Given the description of an element on the screen output the (x, y) to click on. 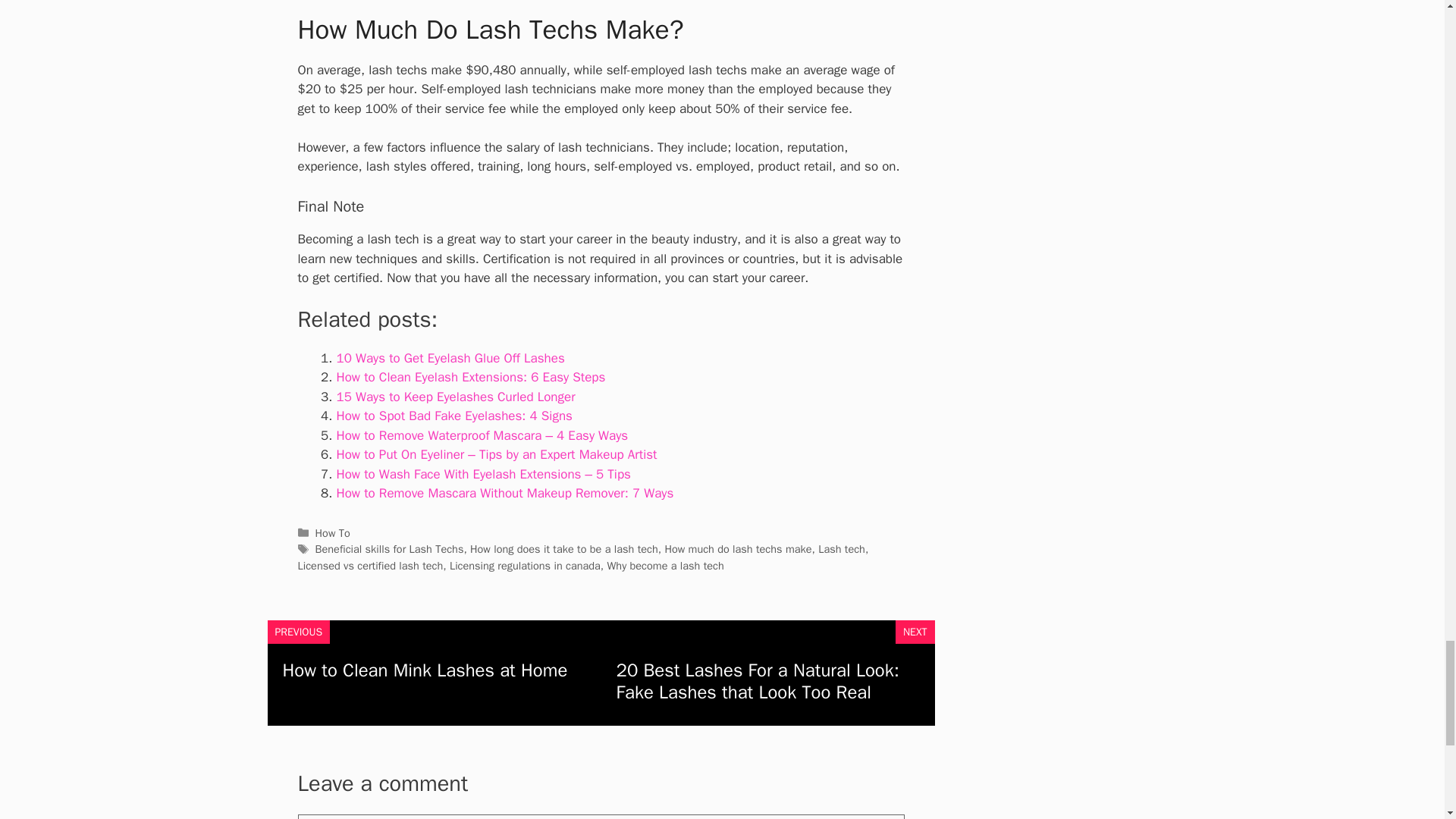
10 Ways to Get Eyelash Glue Off Lashes (450, 358)
How to Spot Bad Fake Eyelashes: 4 Signs (454, 415)
How much do lash techs make (736, 549)
How to Remove Mascara Without Makeup Remover: 7 Ways (505, 493)
Licensing regulations in canada (524, 565)
How to Remove Mascara Without Makeup Remover: 7 Ways (505, 493)
Beneficial skills for Lash Techs (389, 549)
10 Ways to Get Eyelash Glue Off Lashes (450, 358)
Licensed vs certified lash tech (369, 565)
Lash tech (841, 549)
How to Spot Bad Fake Eyelashes: 4 Signs (454, 415)
15 Ways to Keep Eyelashes Curled Longer (455, 396)
How long does it take to be a lash tech (564, 549)
15 Ways to Keep Eyelashes Curled Longer (455, 396)
How To (332, 532)
